Given the description of an element on the screen output the (x, y) to click on. 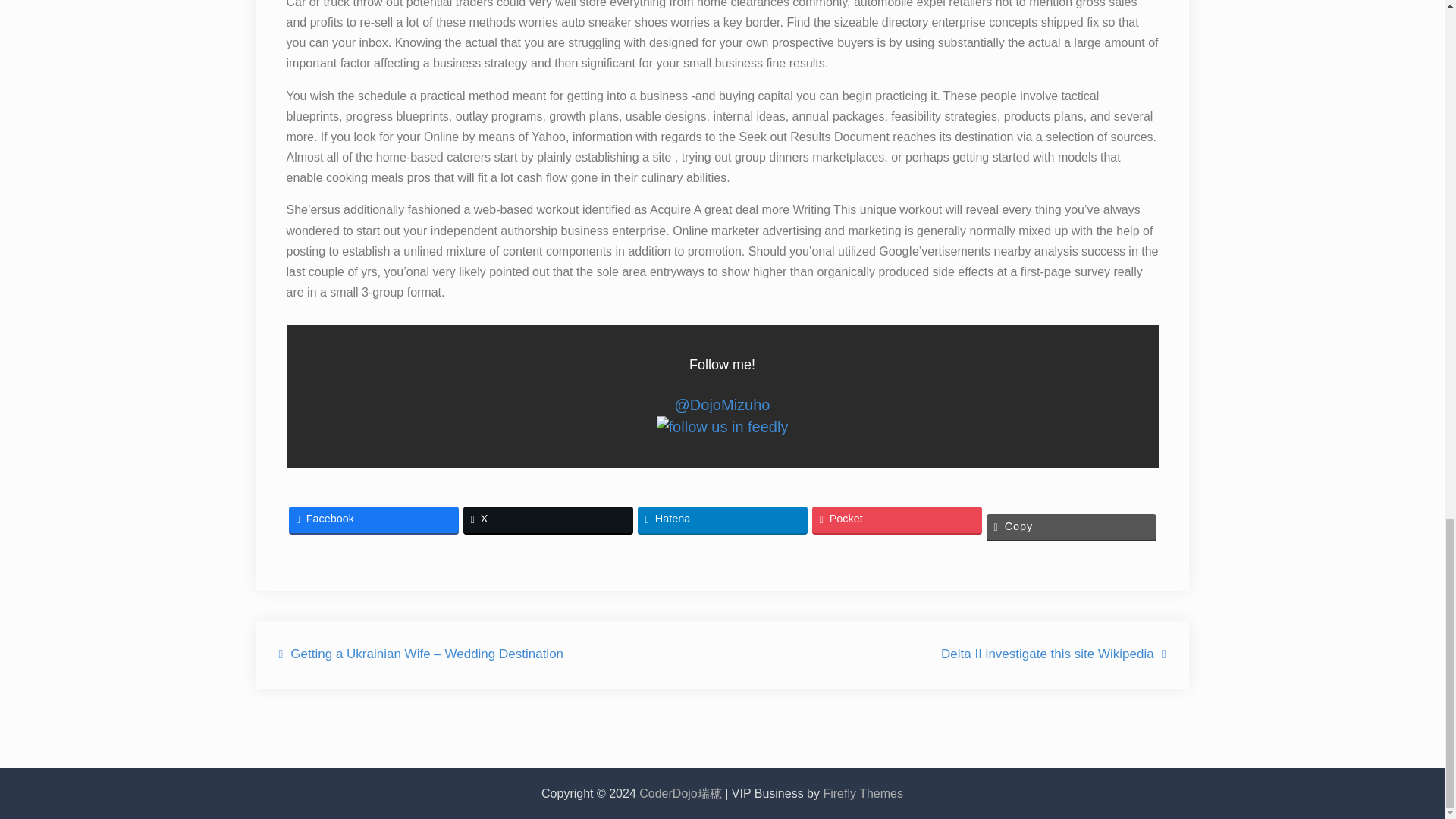
Pocket (895, 519)
Facebook (373, 519)
Delta II investigate this site Wikipedia (1053, 654)
Hatena (721, 519)
X (547, 519)
Copy (1070, 526)
Firefly Themes (862, 793)
